Given the description of an element on the screen output the (x, y) to click on. 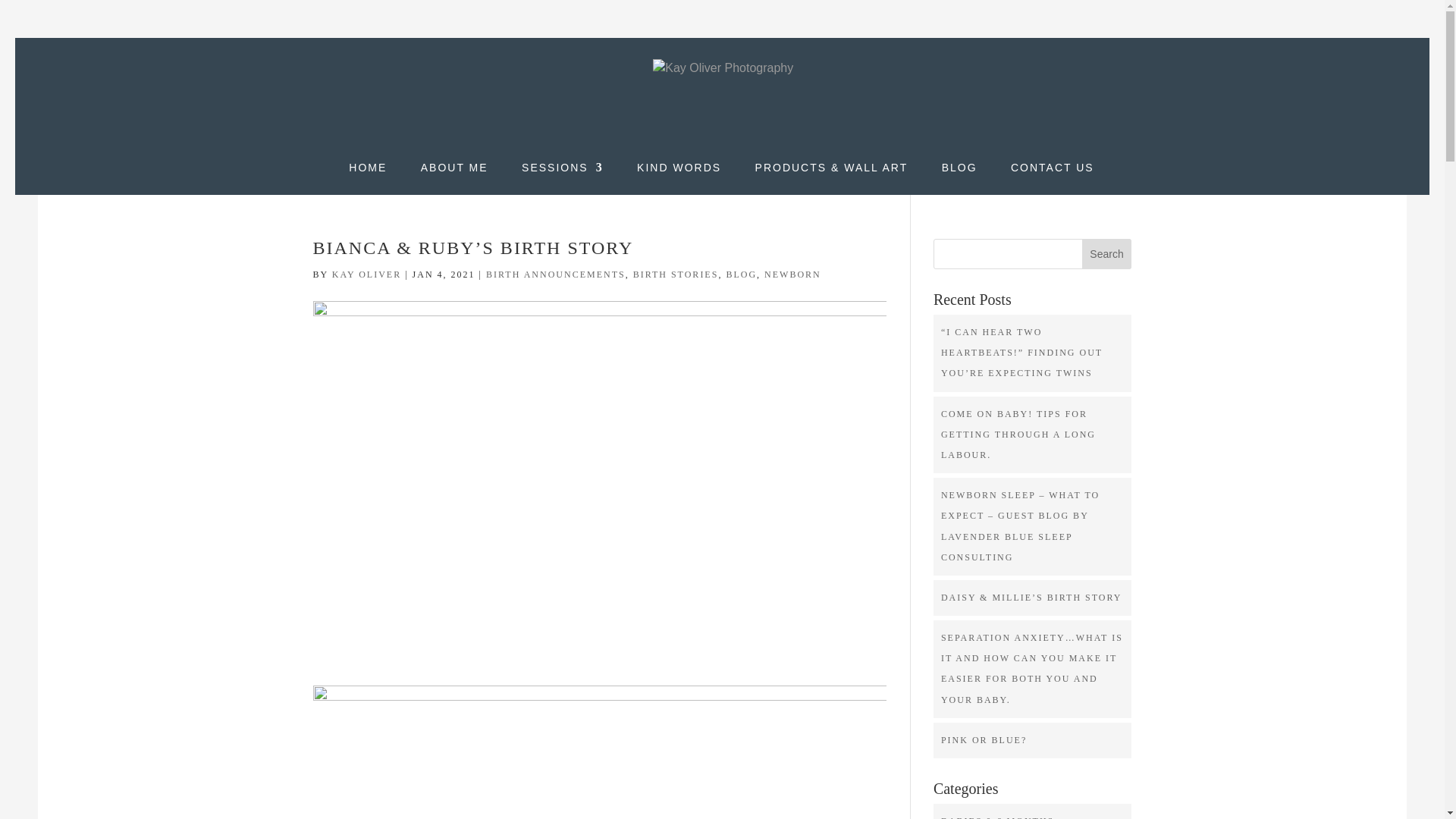
CONTACT US (1052, 178)
KAY OLIVER (366, 274)
KIND WORDS (678, 178)
BLOG (741, 274)
COME ON BABY! TIPS FOR GETTING THROUGH A LONG LABOUR. (1018, 434)
BIRTH STORIES (676, 274)
ABOUT ME (453, 178)
PINK OR BLUE? (983, 739)
Search (1106, 254)
BIRTH ANNOUNCEMENTS (556, 274)
HOME (368, 178)
BLOG (959, 178)
SESSIONS (562, 178)
Posts by Kay Oliver (366, 274)
NEWBORN (792, 274)
